Given the description of an element on the screen output the (x, y) to click on. 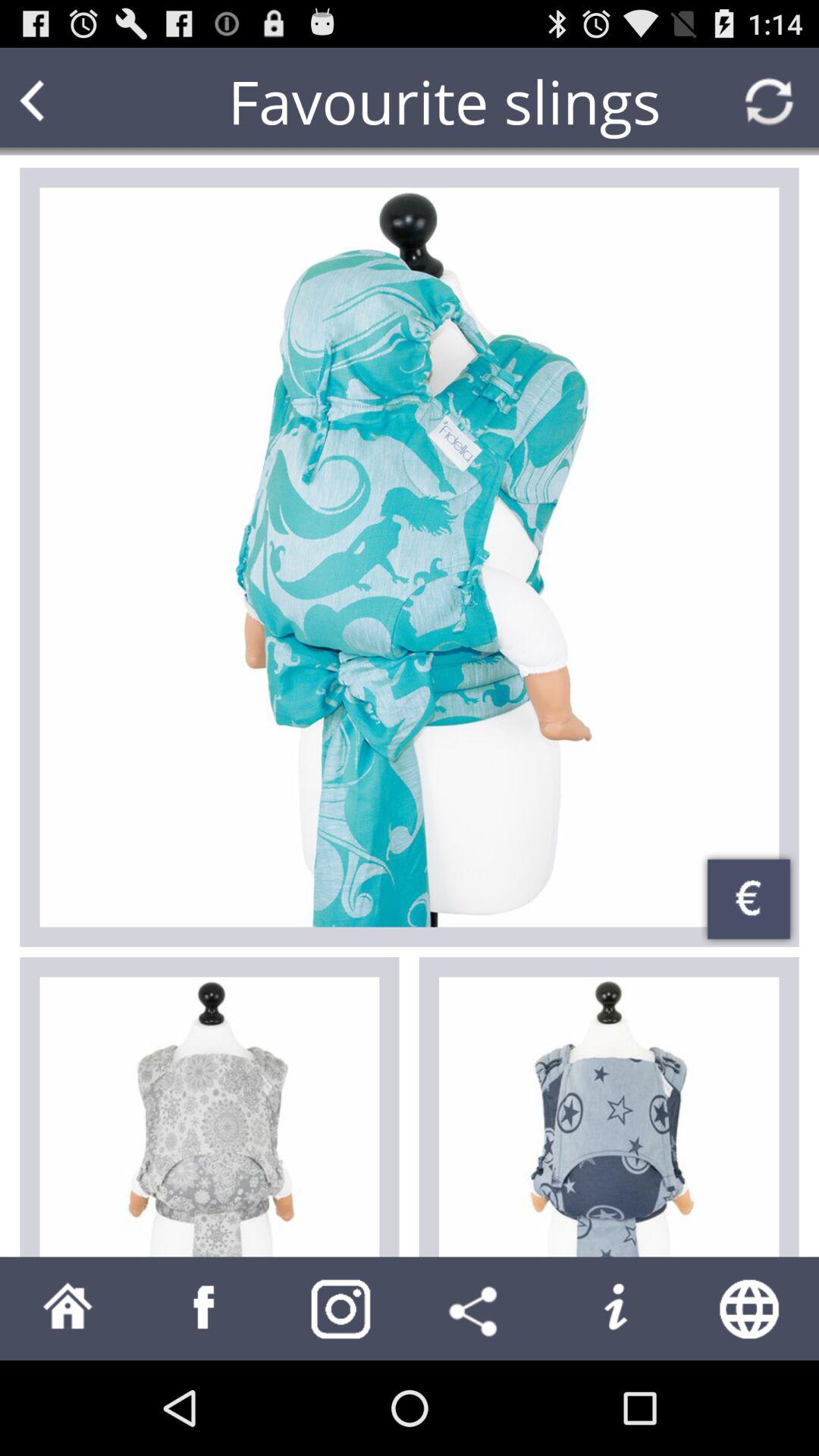
return to previous window (61, 101)
